Given the description of an element on the screen output the (x, y) to click on. 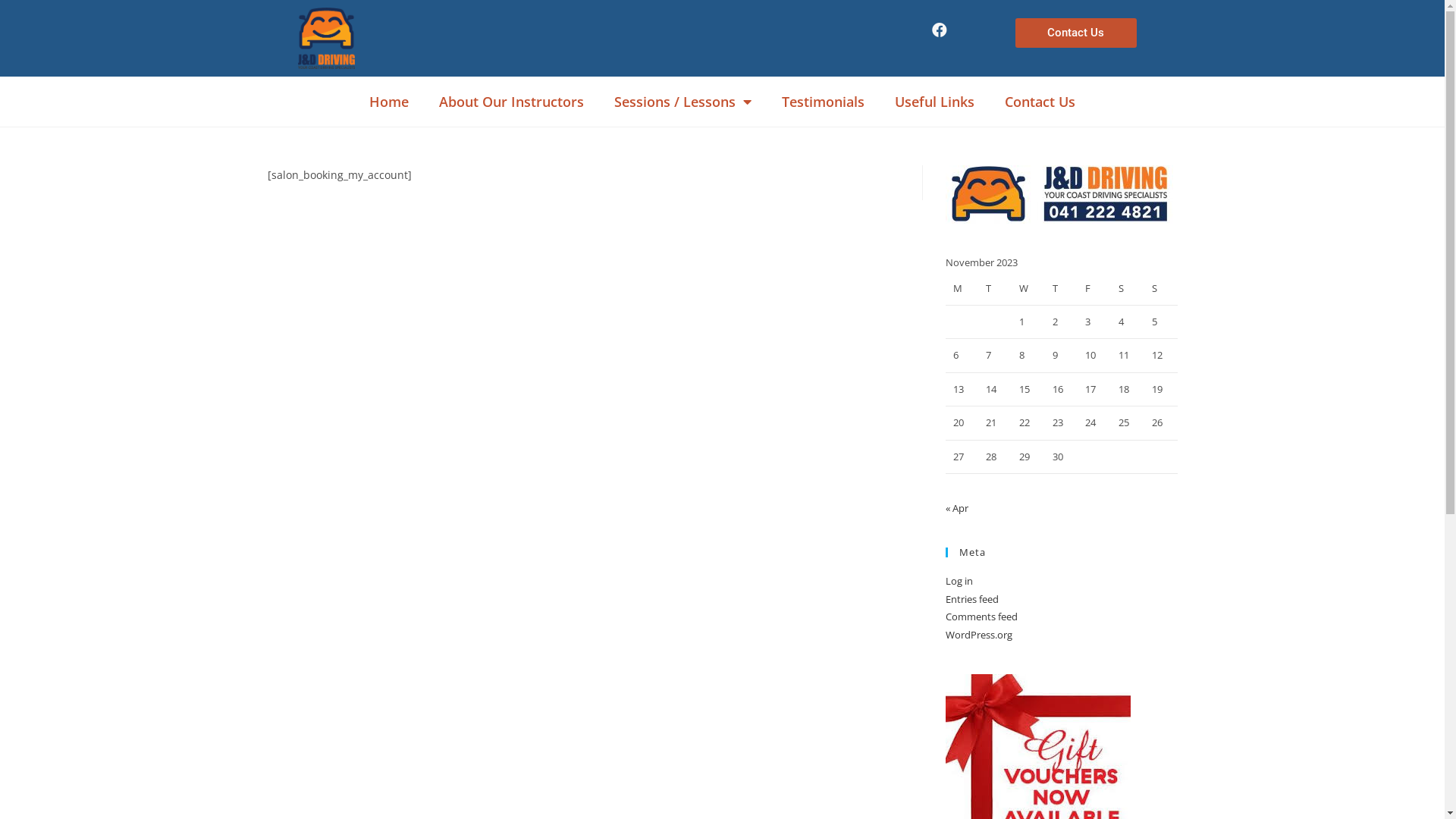
Contact Us Element type: text (1075, 32)
Entries feed Element type: text (970, 598)
Testimonials Element type: text (822, 101)
Comments feed Element type: text (980, 616)
WordPress.org Element type: text (977, 634)
Home Element type: text (388, 101)
About Our Instructors Element type: text (511, 101)
Sessions / Lessons Element type: text (682, 101)
Contact Us Element type: text (1039, 101)
Log in Element type: text (958, 580)
Useful Links Element type: text (934, 101)
